Given the description of an element on the screen output the (x, y) to click on. 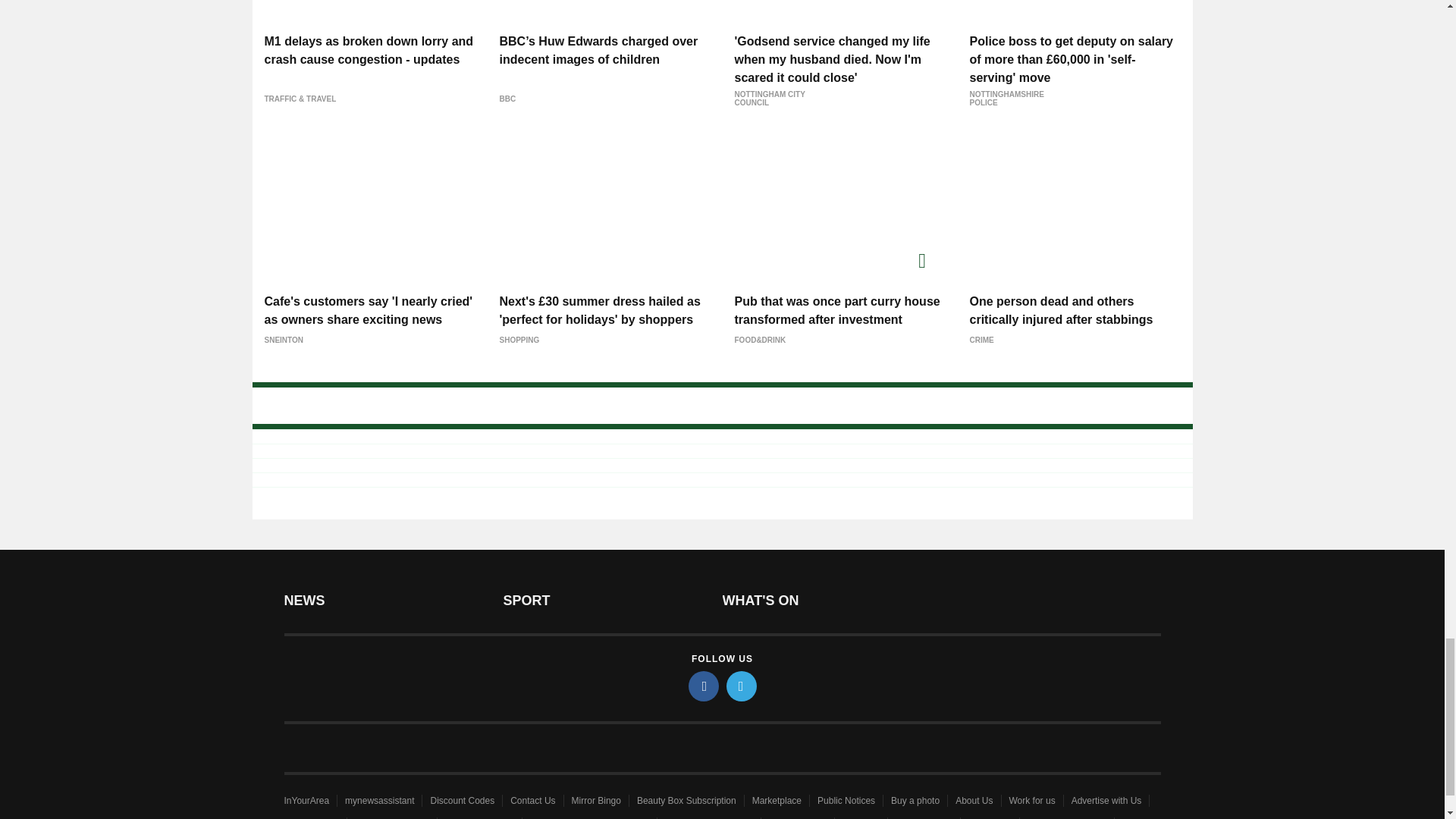
facebook (703, 685)
twitter (741, 685)
